Given the description of an element on the screen output the (x, y) to click on. 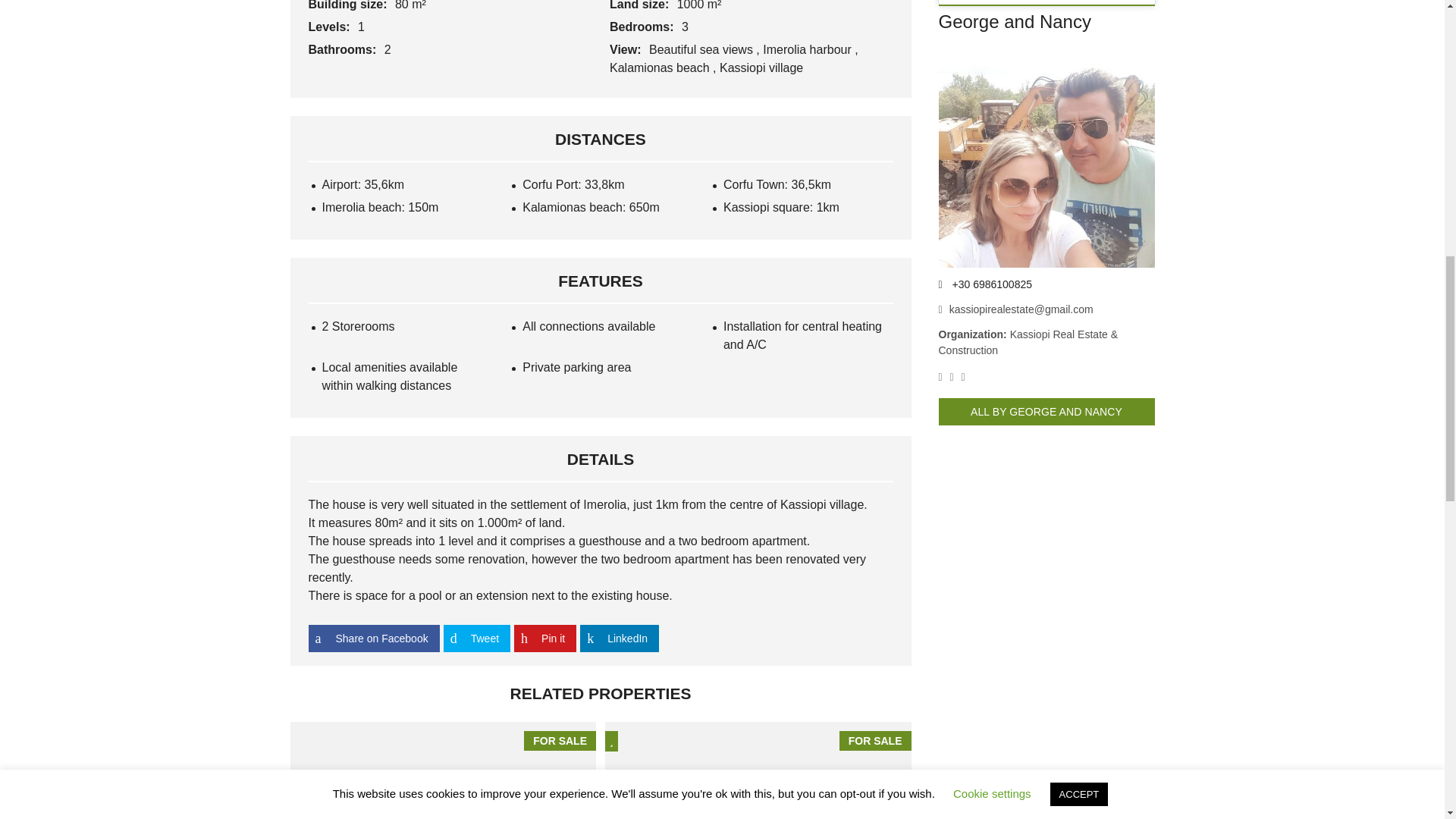
Share on LinkedIn (619, 637)
Share on Pin it (544, 637)
Share on Tweet (477, 637)
Share on Share on Facebook (373, 637)
